Given the description of an element on the screen output the (x, y) to click on. 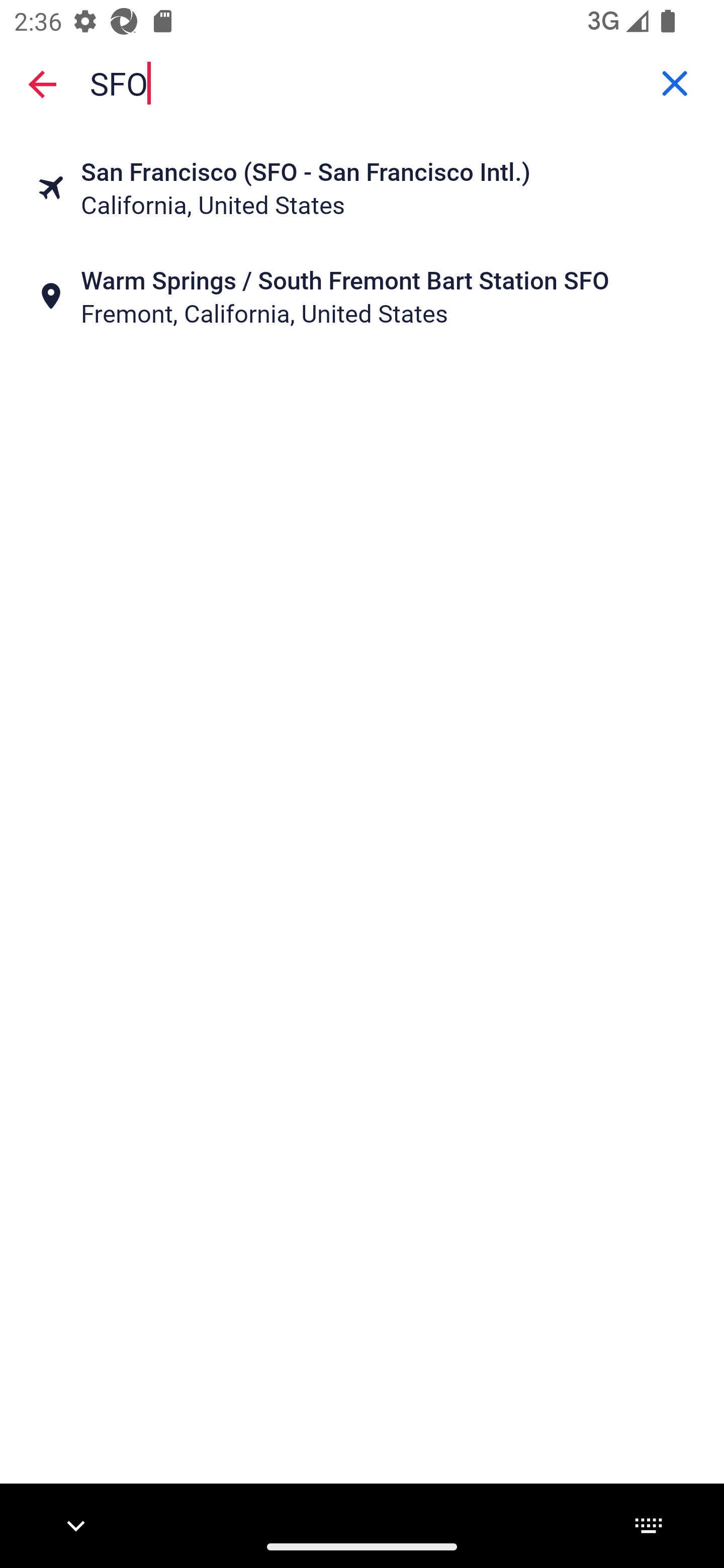
Clear Drop-off (674, 82)
Drop-off, SFO (361, 82)
Close search screen (41, 83)
